Given the description of an element on the screen output the (x, y) to click on. 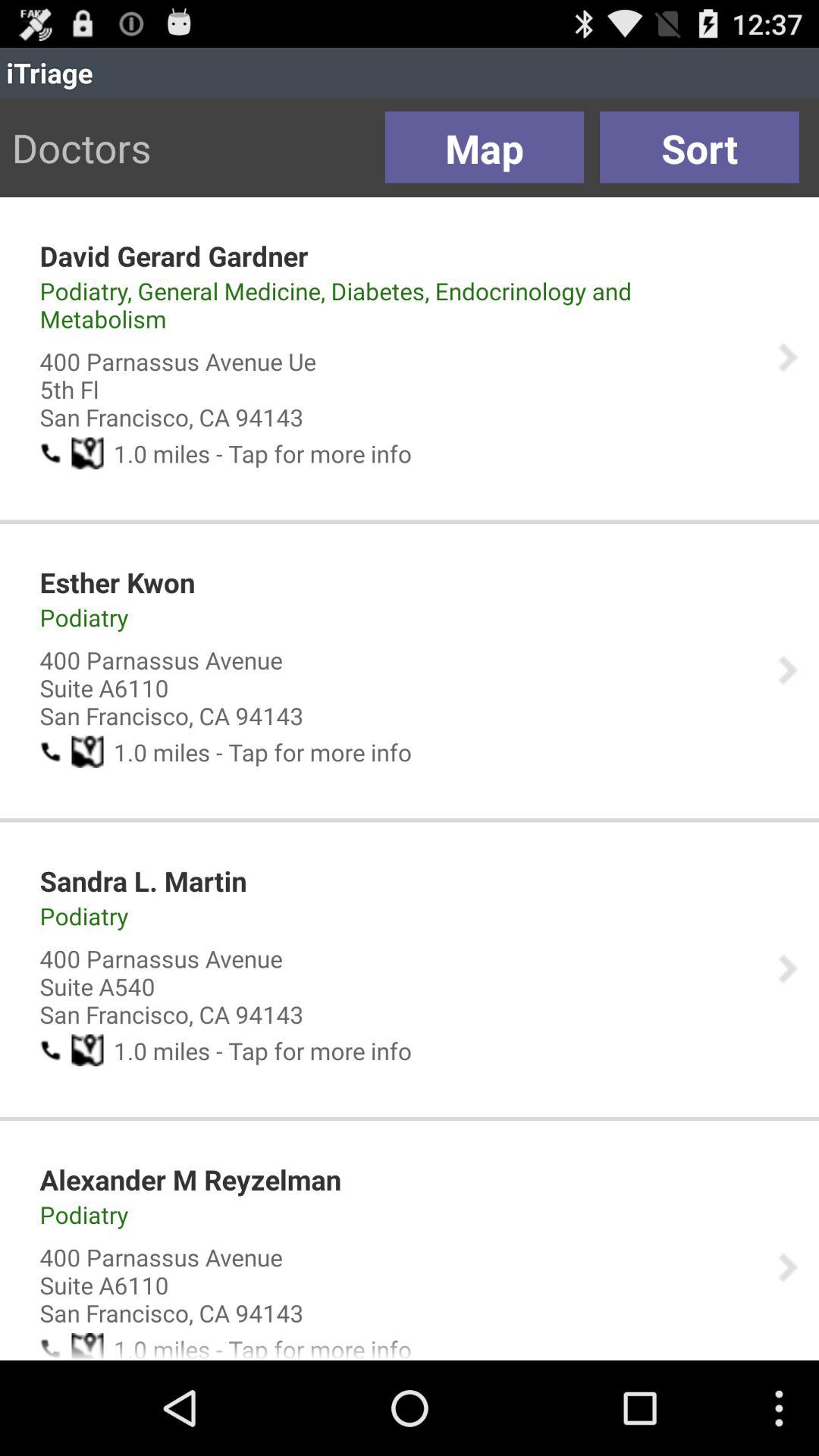
turn on the icon below doctors (173, 255)
